Given the description of an element on the screen output the (x, y) to click on. 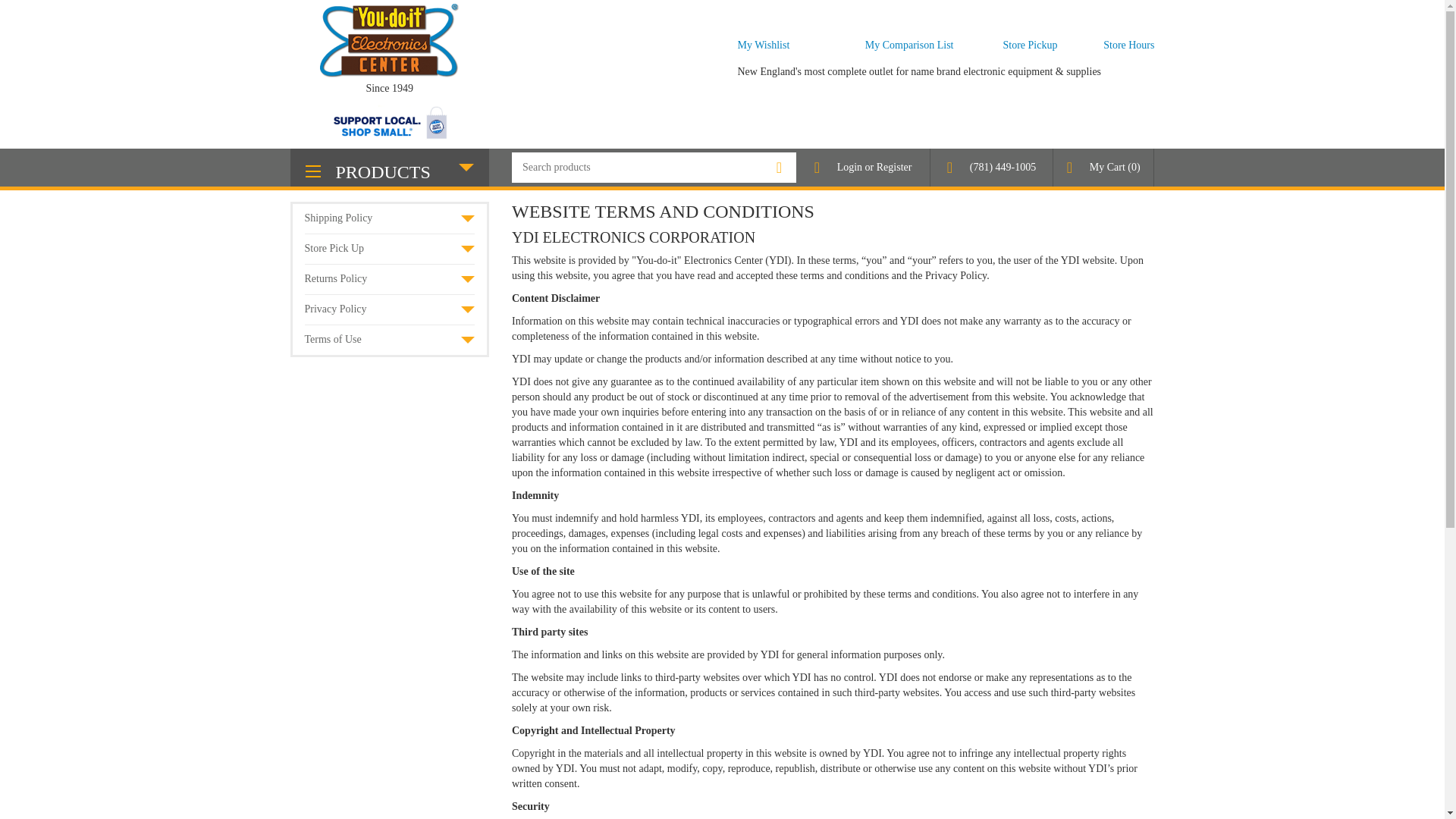
My Wishlist (762, 44)
0 Items (1133, 166)
Store Hours (1128, 44)
Store Pickup (1030, 44)
Magento Commerce (389, 74)
Search (780, 167)
My Wishlist (762, 44)
Since 1949 (389, 74)
My Comparison List (908, 44)
PRODUCTS (389, 167)
